Given the description of an element on the screen output the (x, y) to click on. 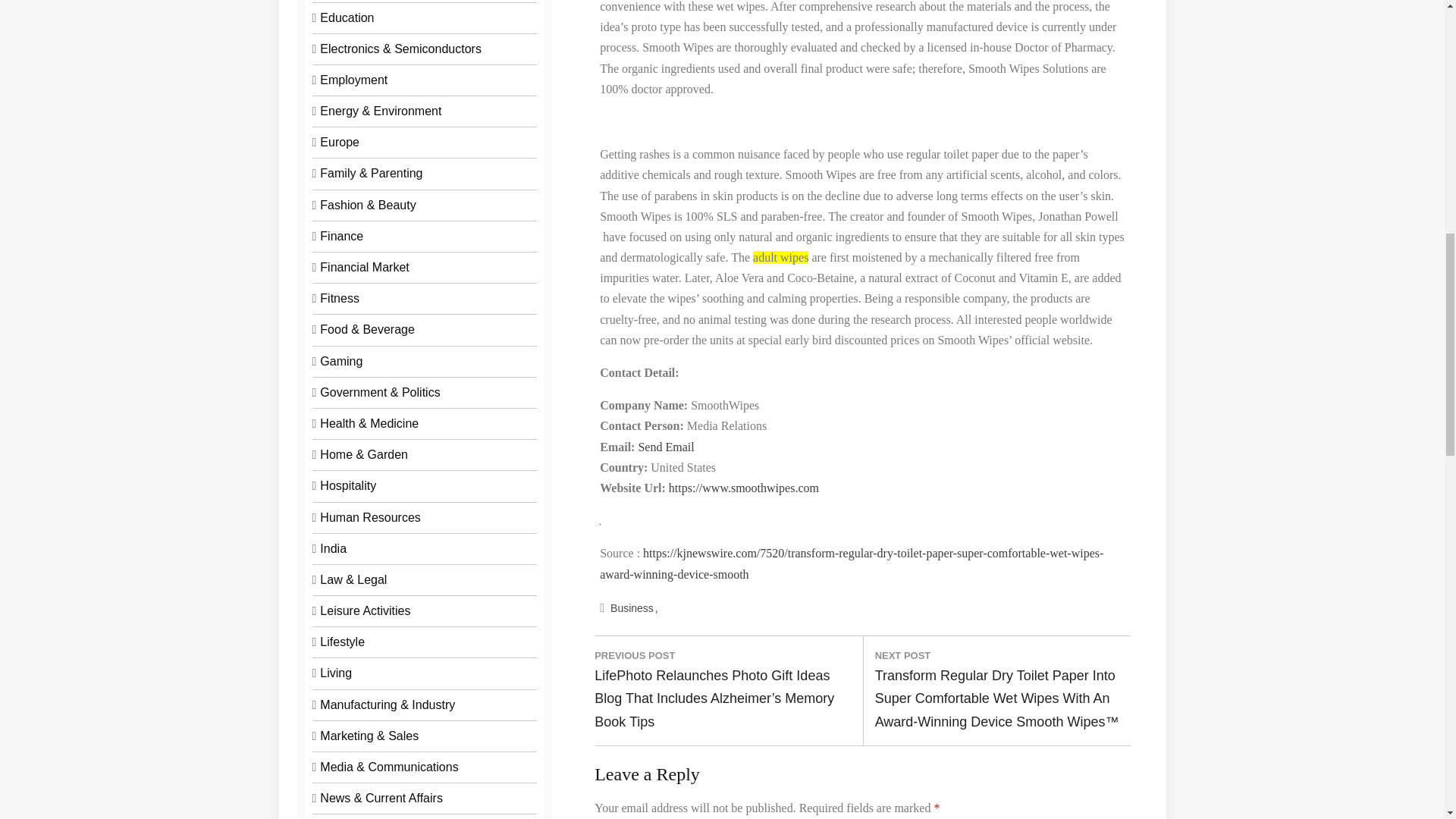
Education (347, 17)
Employment (353, 79)
Business (634, 608)
Send Email (665, 446)
